Given the description of an element on the screen output the (x, y) to click on. 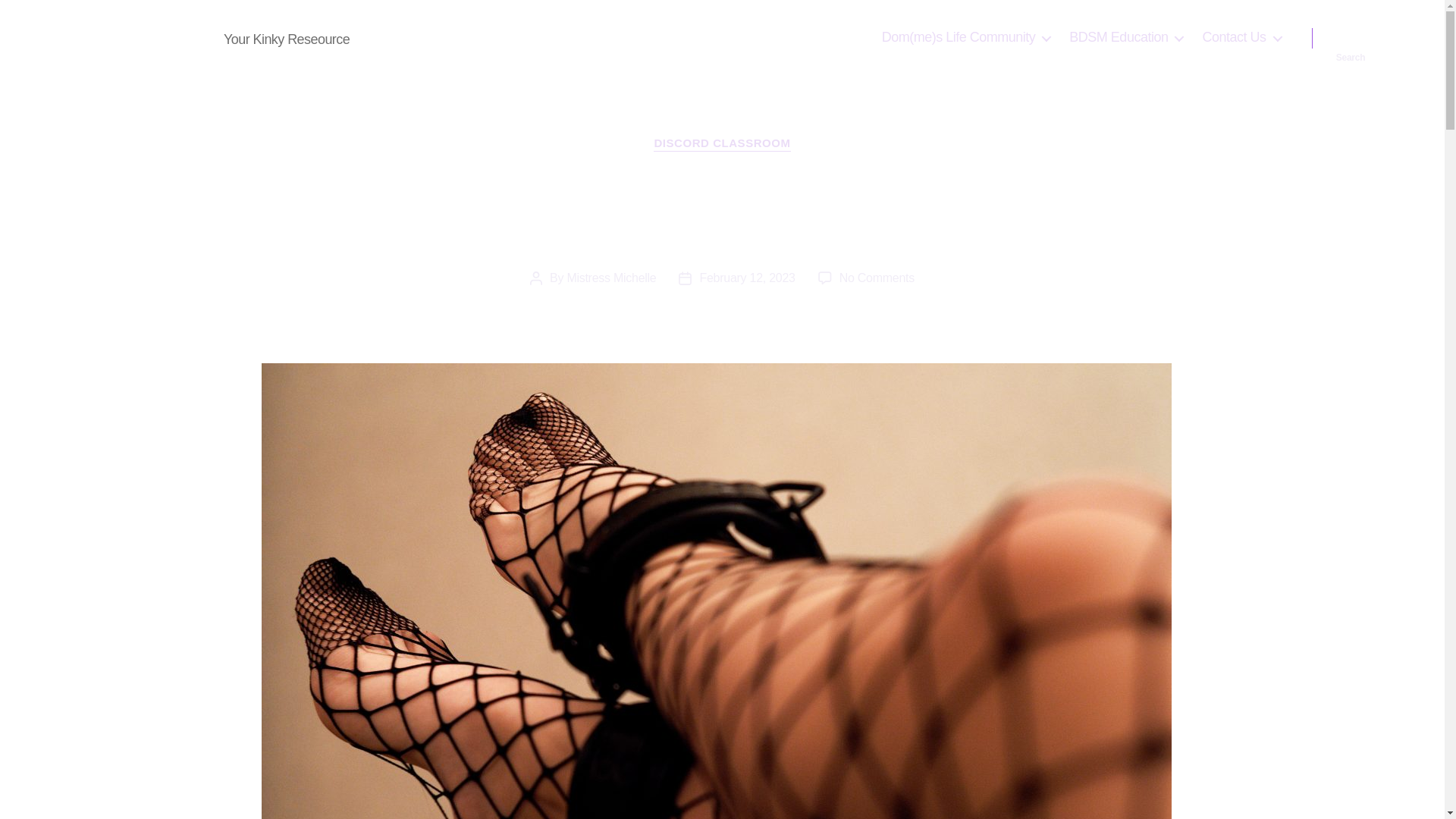
Contact Us (1241, 37)
BDSM Education (1125, 37)
Search (1350, 37)
